Given the description of an element on the screen output the (x, y) to click on. 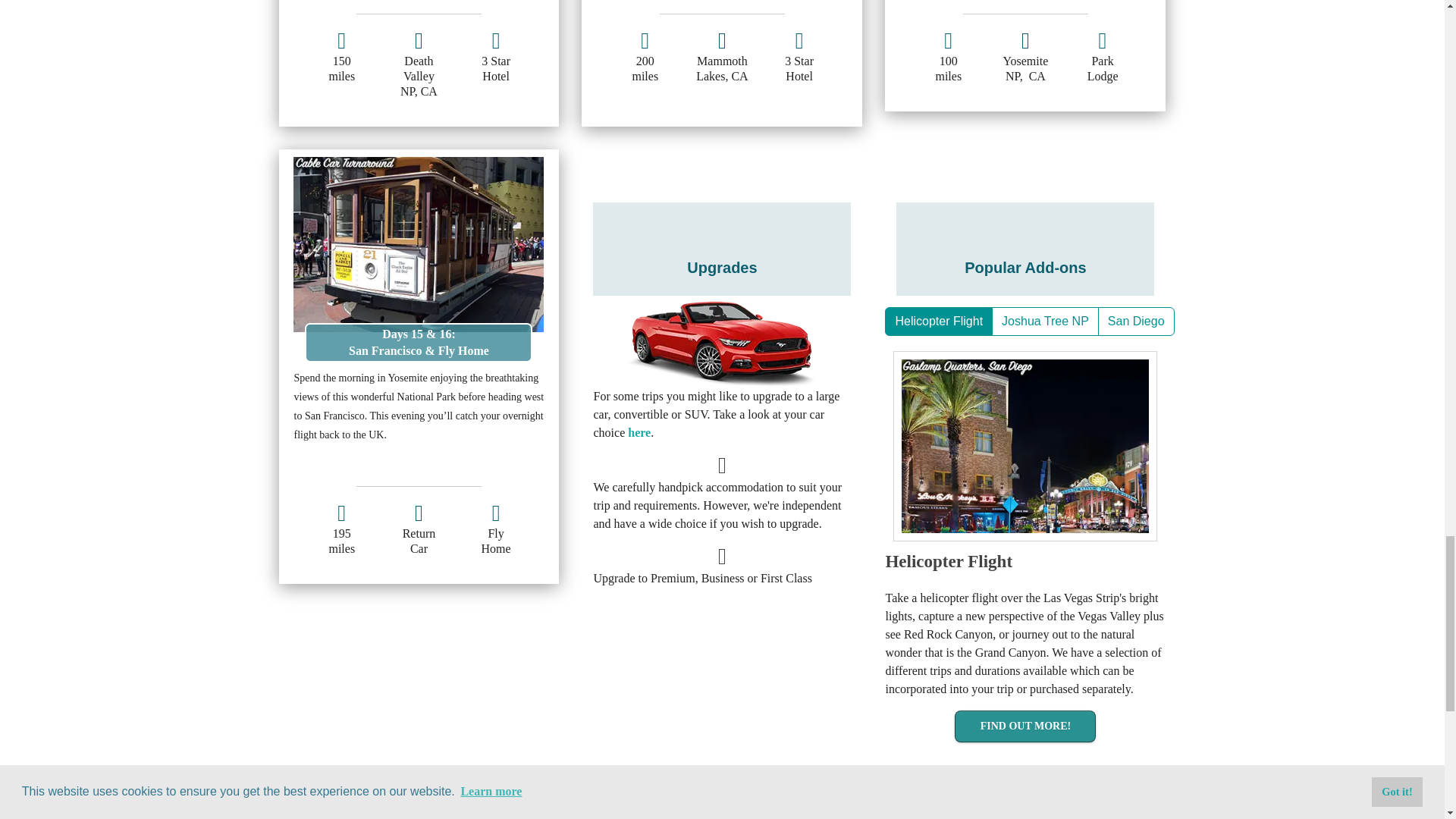
here (638, 431)
